Given the description of an element on the screen output the (x, y) to click on. 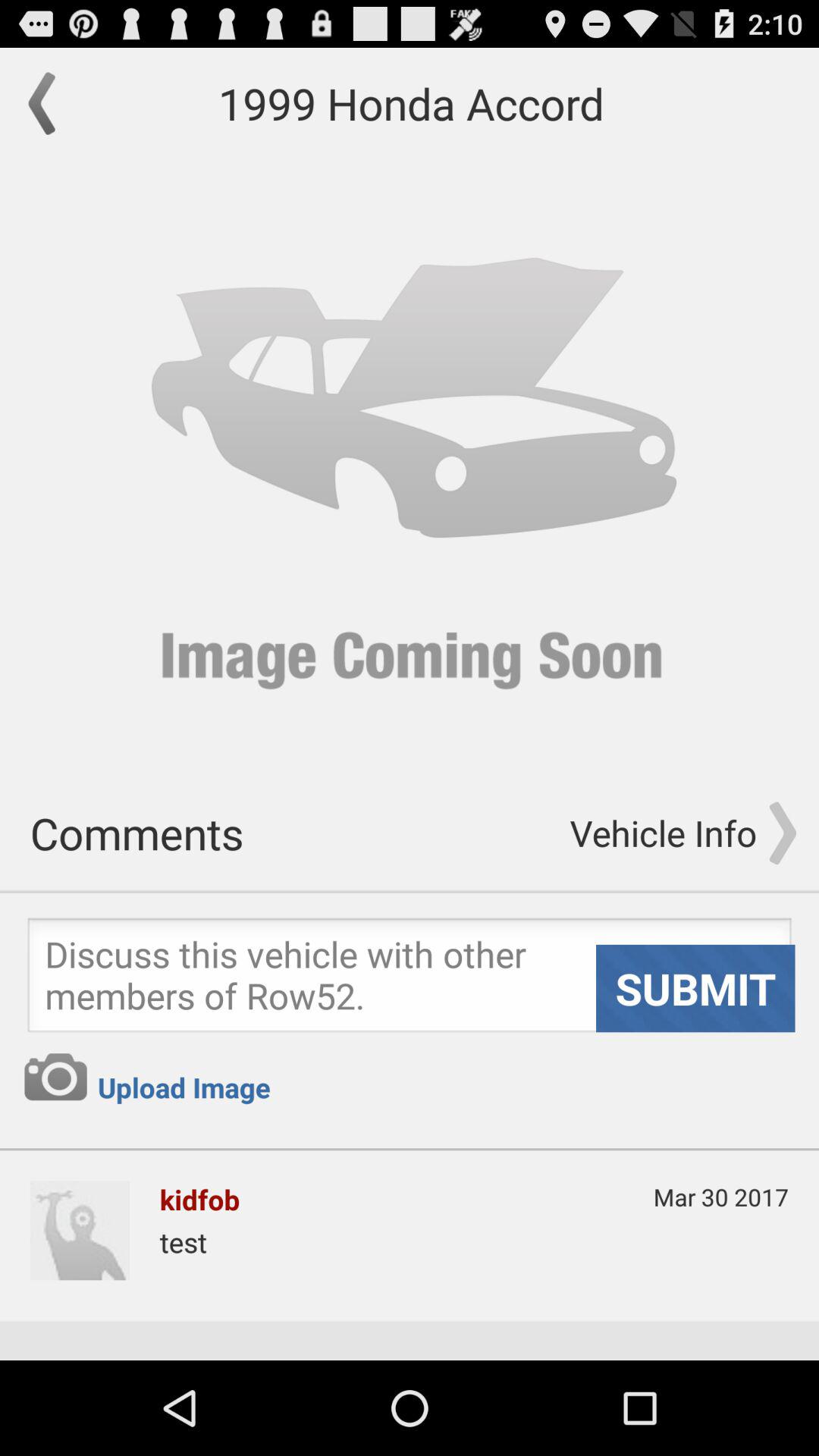
type and submit a comment (409, 979)
